Given the description of an element on the screen output the (x, y) to click on. 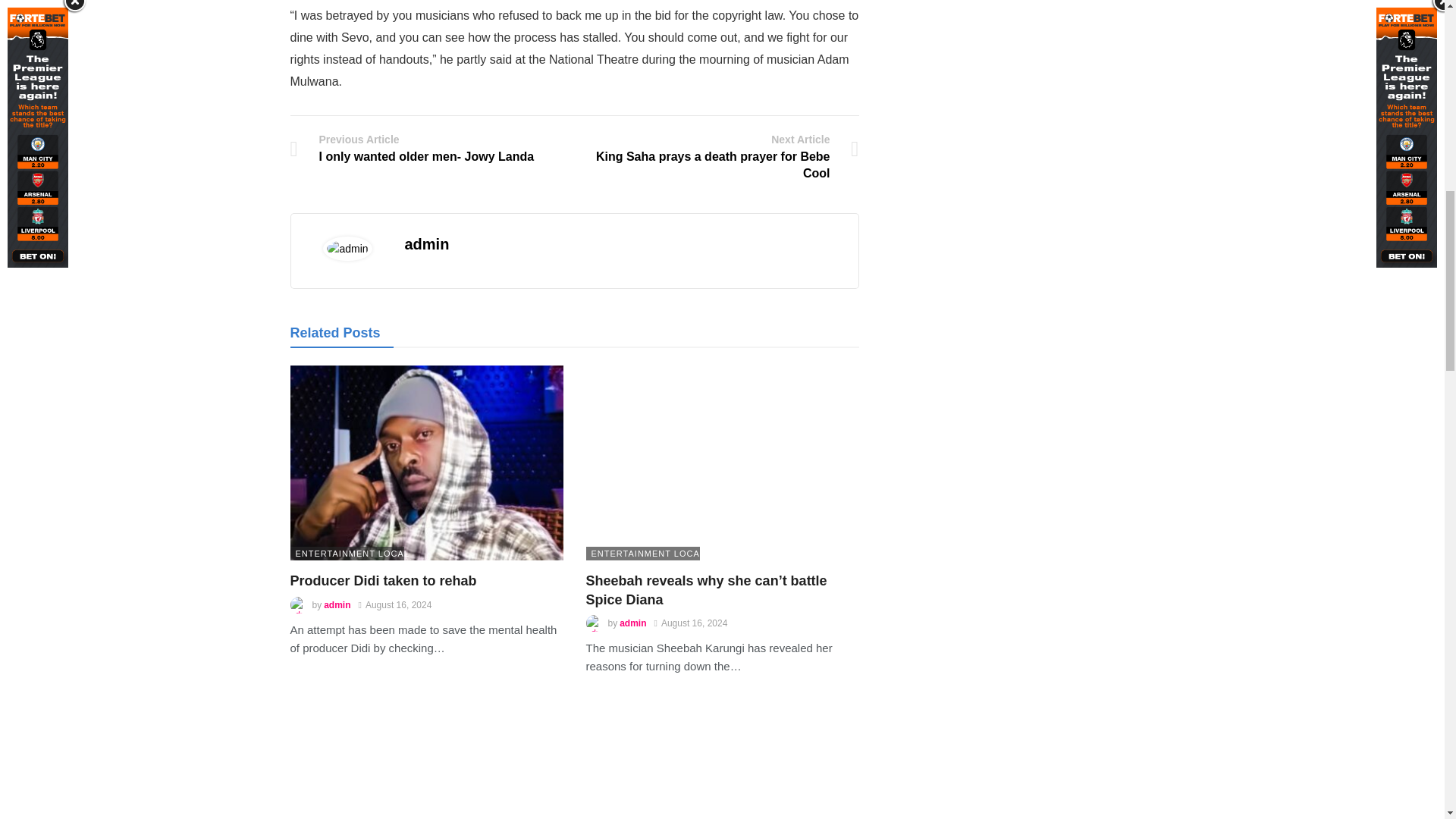
admin (425, 148)
ENTERTAINMENT LOCAL (336, 604)
Producer Didi taken to rehab (346, 553)
Producer Didi taken to rehab (382, 580)
Producer Didi taken to rehab (382, 580)
August 16, 2024 (425, 462)
ENTERTAINMENT LOCAL (395, 604)
